Given the description of an element on the screen output the (x, y) to click on. 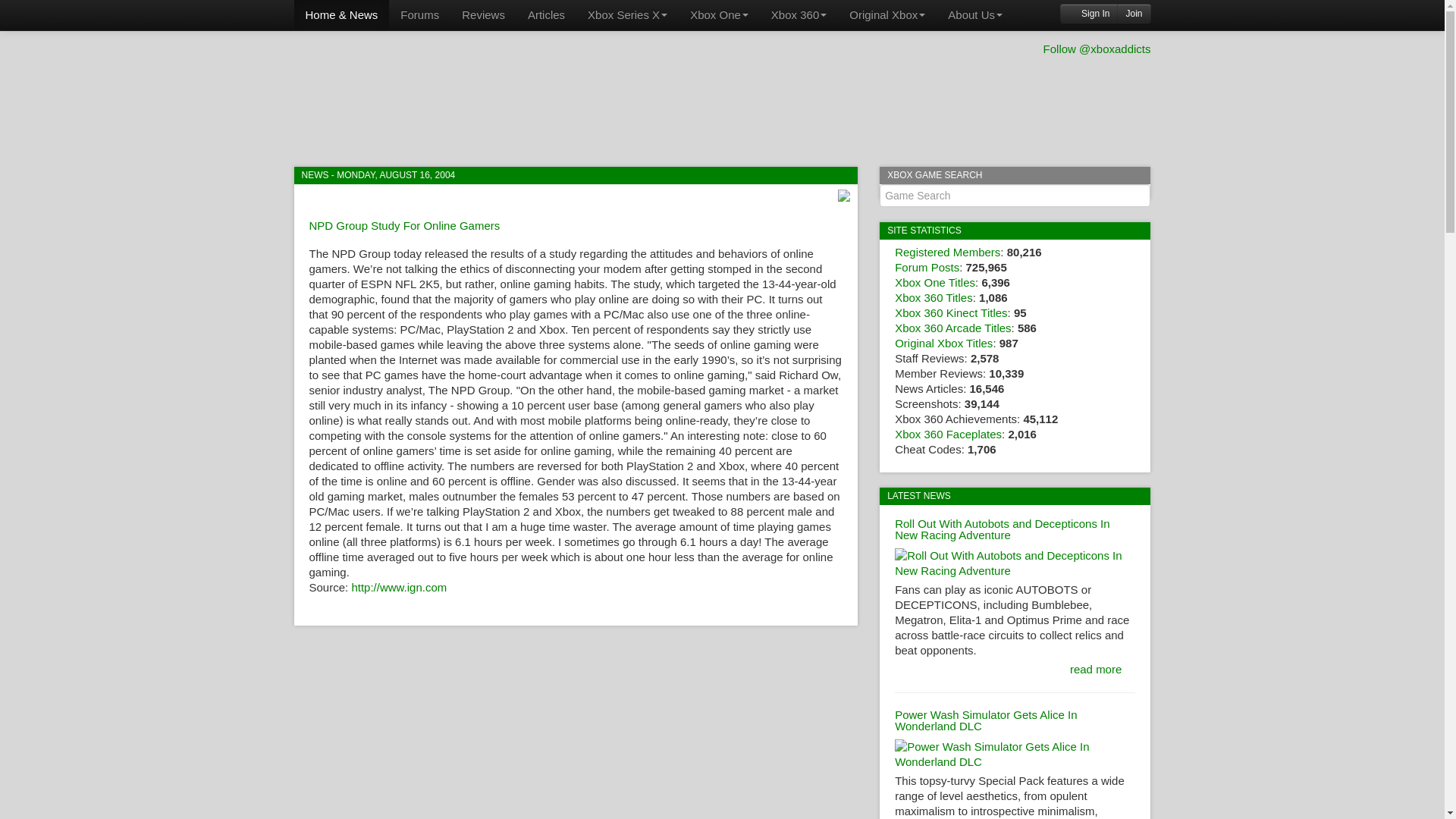
Join (1133, 13)
Xbox One (719, 15)
Xbox Series X (627, 15)
Forums (418, 15)
Reviews (482, 15)
Articles (546, 15)
About Us (974, 15)
Original Xbox (887, 15)
Xbox 360 (799, 15)
Sign In (1088, 13)
